Given the description of an element on the screen output the (x, y) to click on. 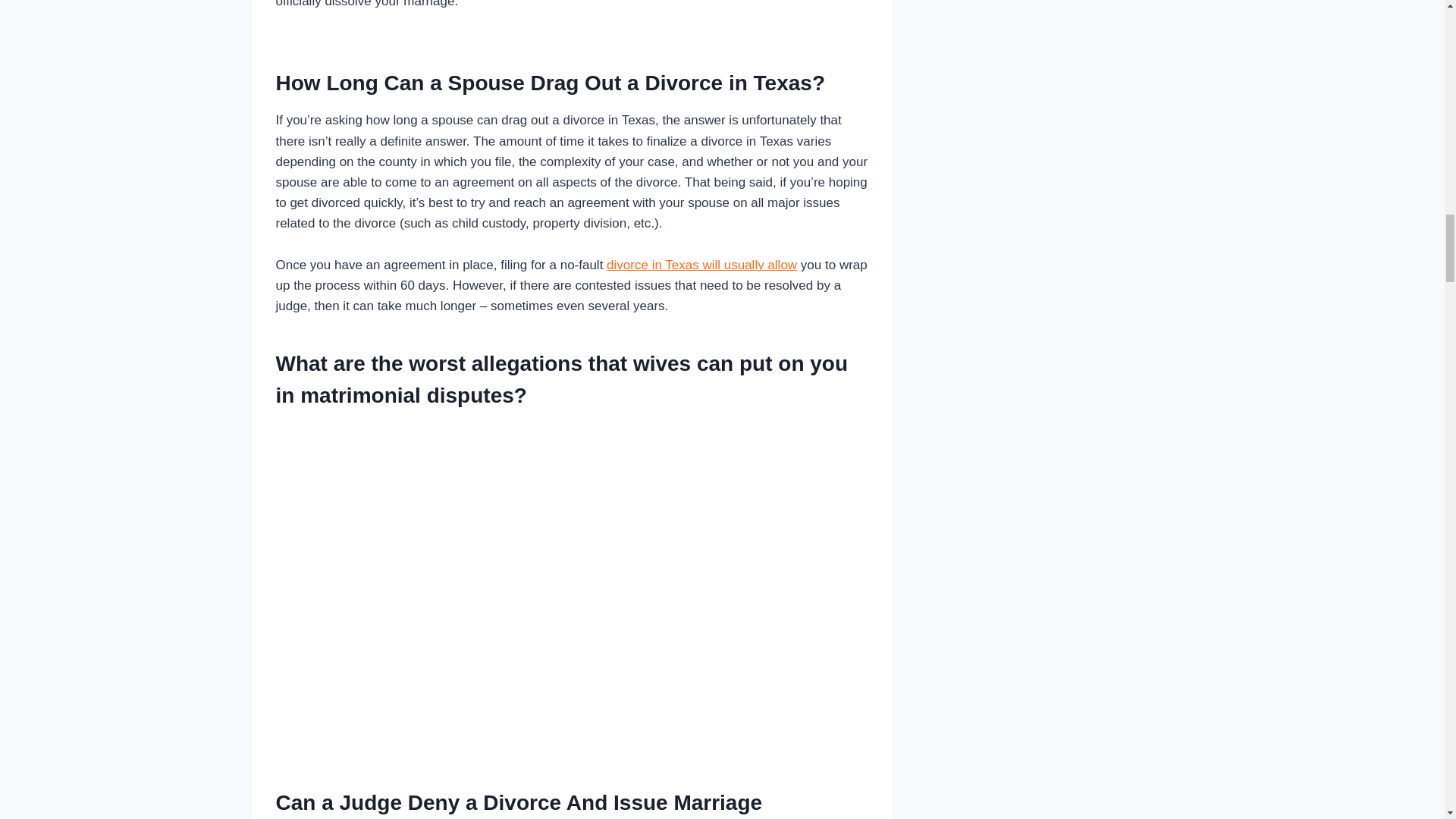
divorce in Texas will usually allow (701, 264)
